Given the description of an element on the screen output the (x, y) to click on. 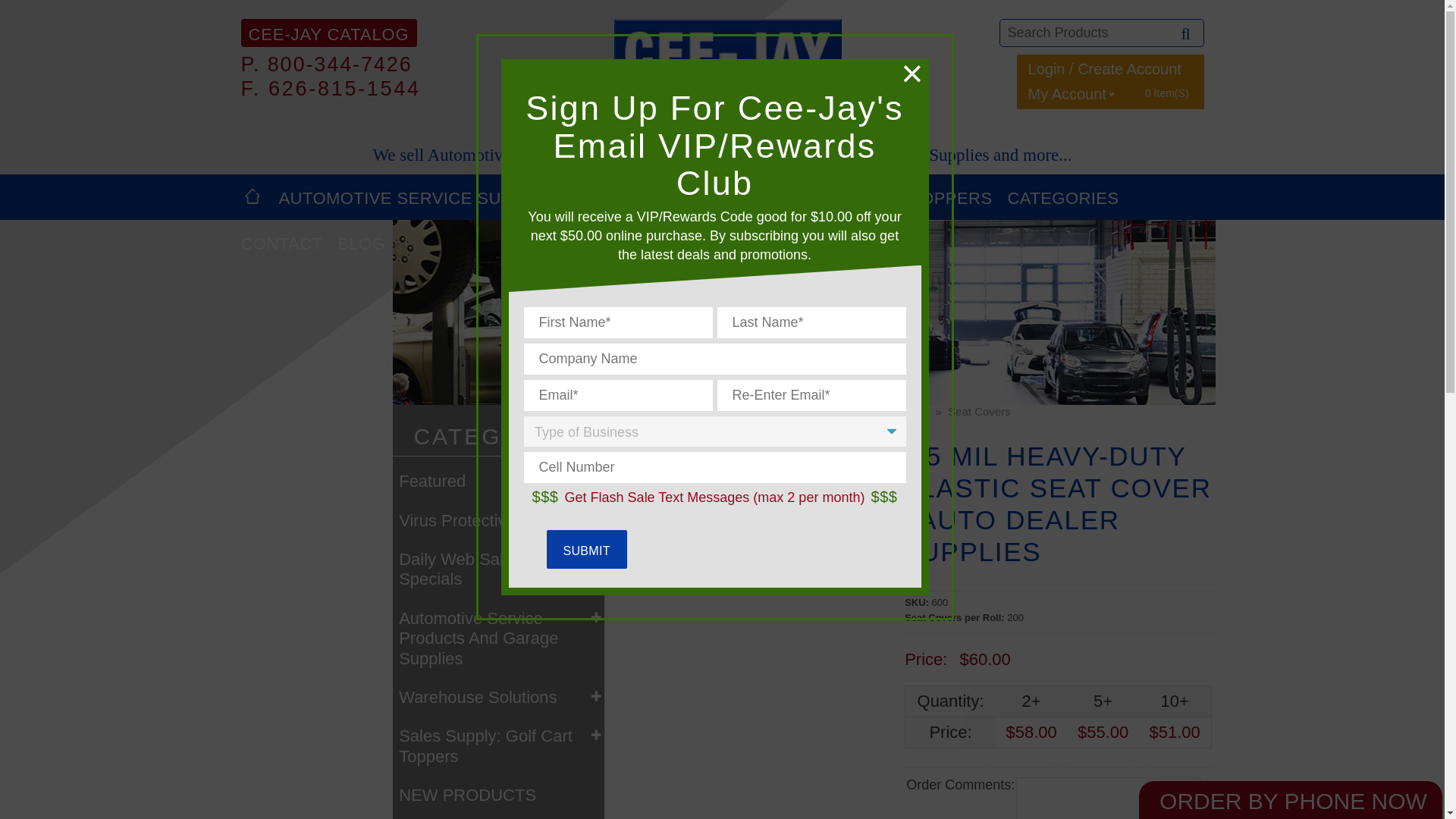
WAREHOUSE SOLUTIONS (684, 197)
ORDER HISTORY (727, 104)
Submit (586, 548)
AUTOMOTIVE SERVICE SUPPLIES (419, 197)
Submit (586, 548)
CONTACT (281, 242)
BLOG (361, 242)
CEE-JAY CATALOG (328, 32)
Automotive Service Products And Garage Supplies (498, 632)
GOLF CART TOPPERS (898, 197)
P. 800-344-7426 (326, 64)
Daily Web Sales Supply Specials (498, 563)
CATEGORIES (1063, 197)
Featured (498, 475)
Virus Protective Products (498, 515)
